Given the description of an element on the screen output the (x, y) to click on. 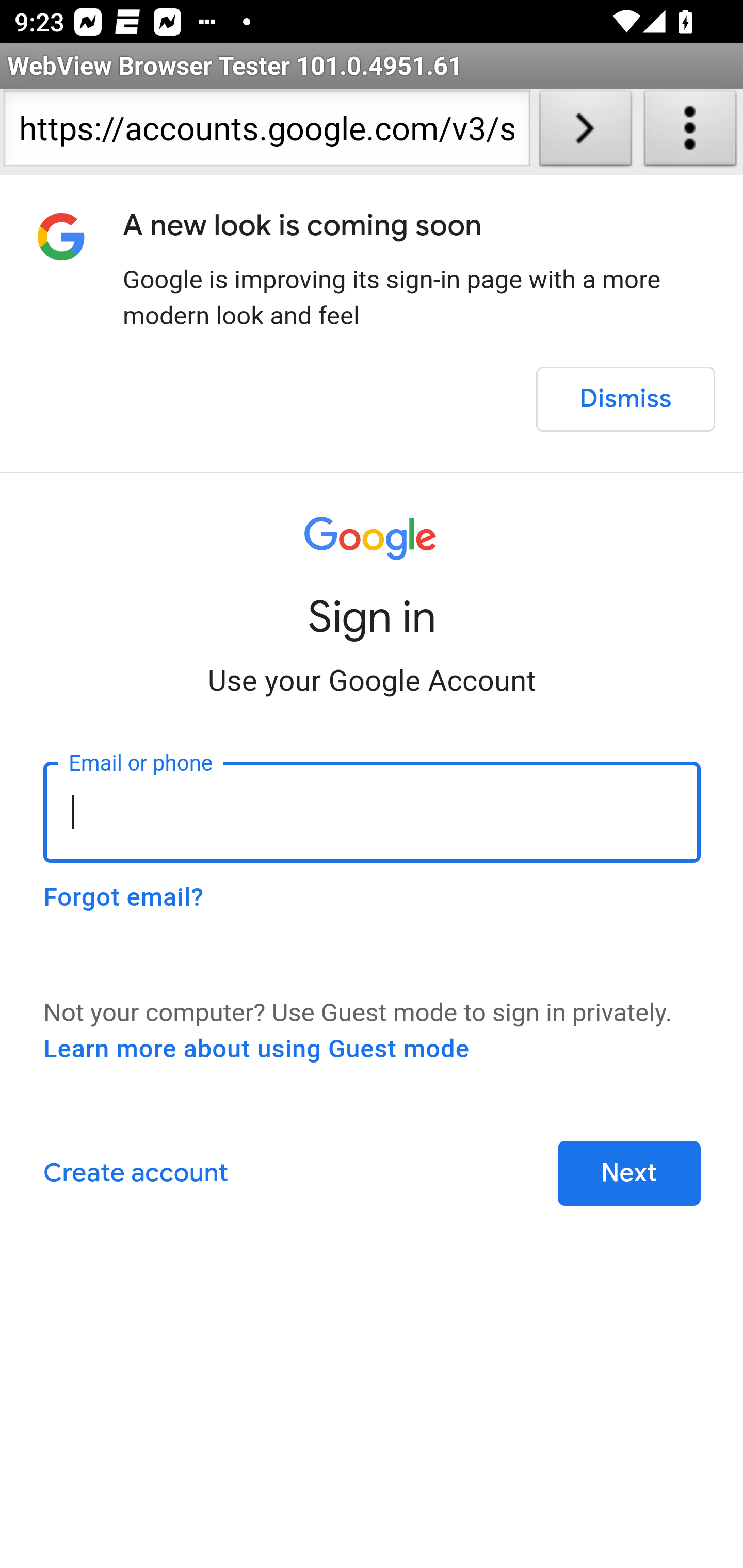
Load URL (585, 132)
About WebView (690, 132)
Dismiss (625, 398)
Forgot email? (123, 897)
Learn more about using Guest mode (256, 1048)
Create account (134, 1173)
Next (629, 1173)
